Given the description of an element on the screen output the (x, y) to click on. 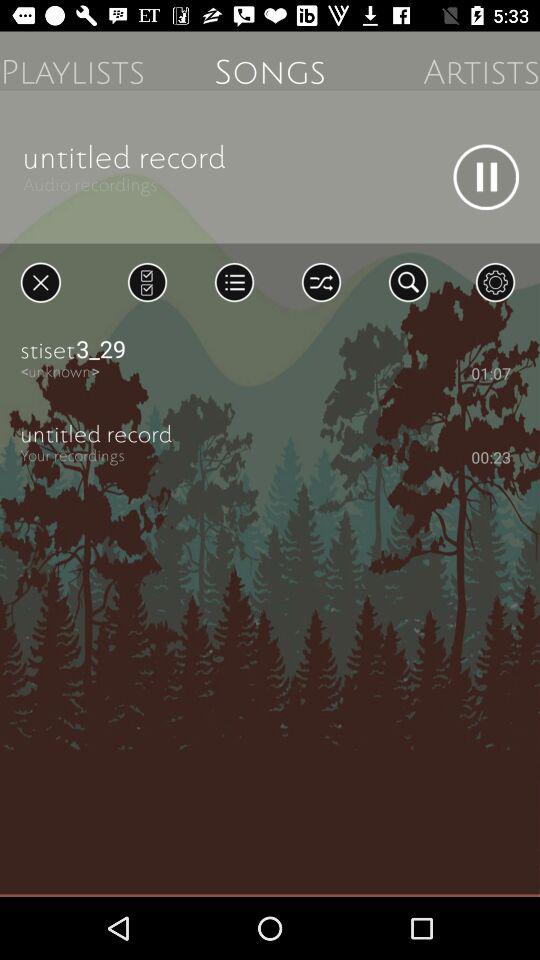
see additional settings (495, 282)
